Given the description of an element on the screen output the (x, y) to click on. 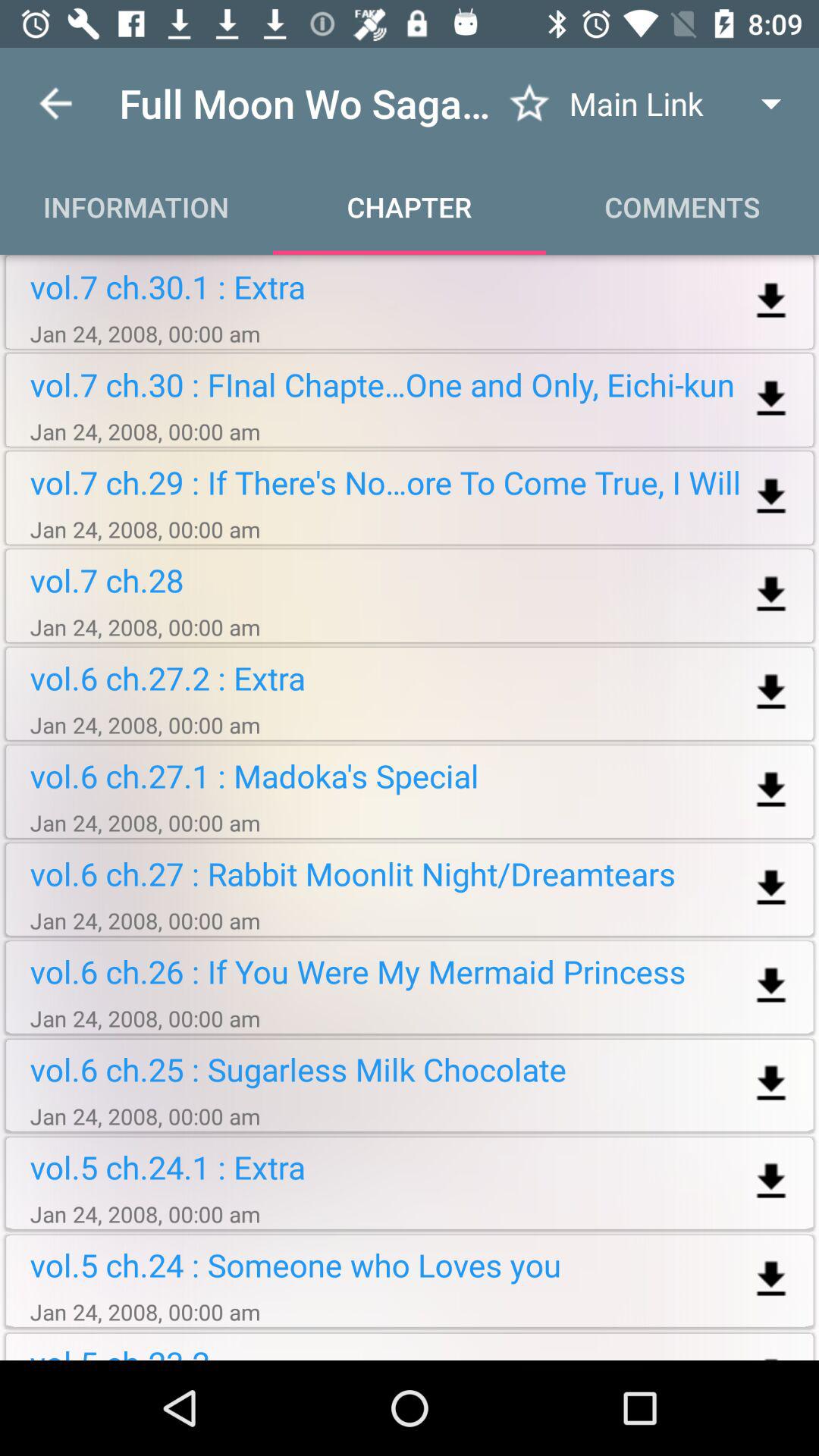
save file (771, 692)
